Given the description of an element on the screen output the (x, y) to click on. 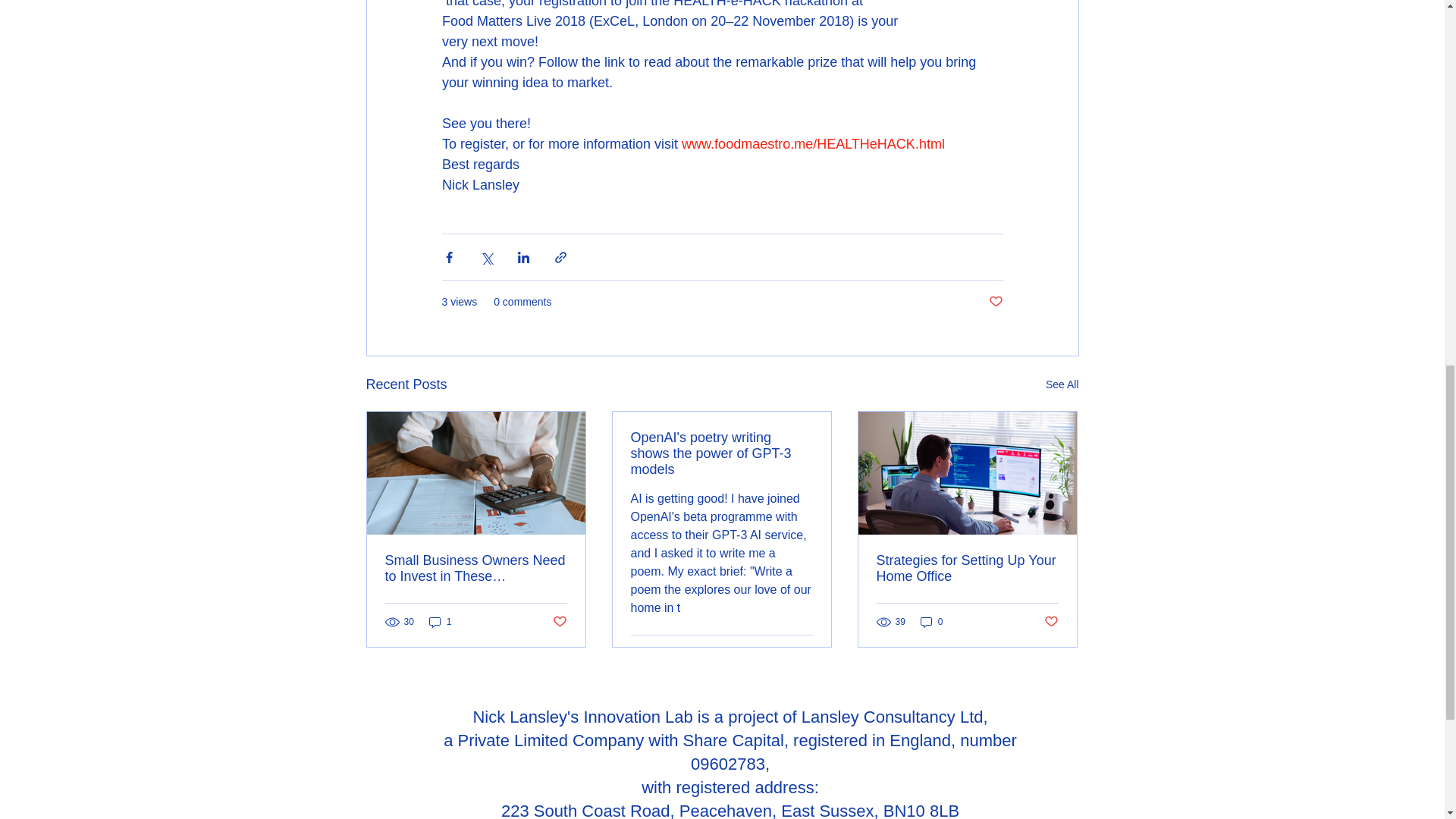
Small Business Owners Need to Invest in These Technologies (476, 568)
OpenAI's poetry writing shows the power of GPT-3 models (721, 453)
1 (440, 621)
Post not marked as liked (558, 621)
See All (1061, 384)
Post not marked as liked (995, 302)
